Given the description of an element on the screen output the (x, y) to click on. 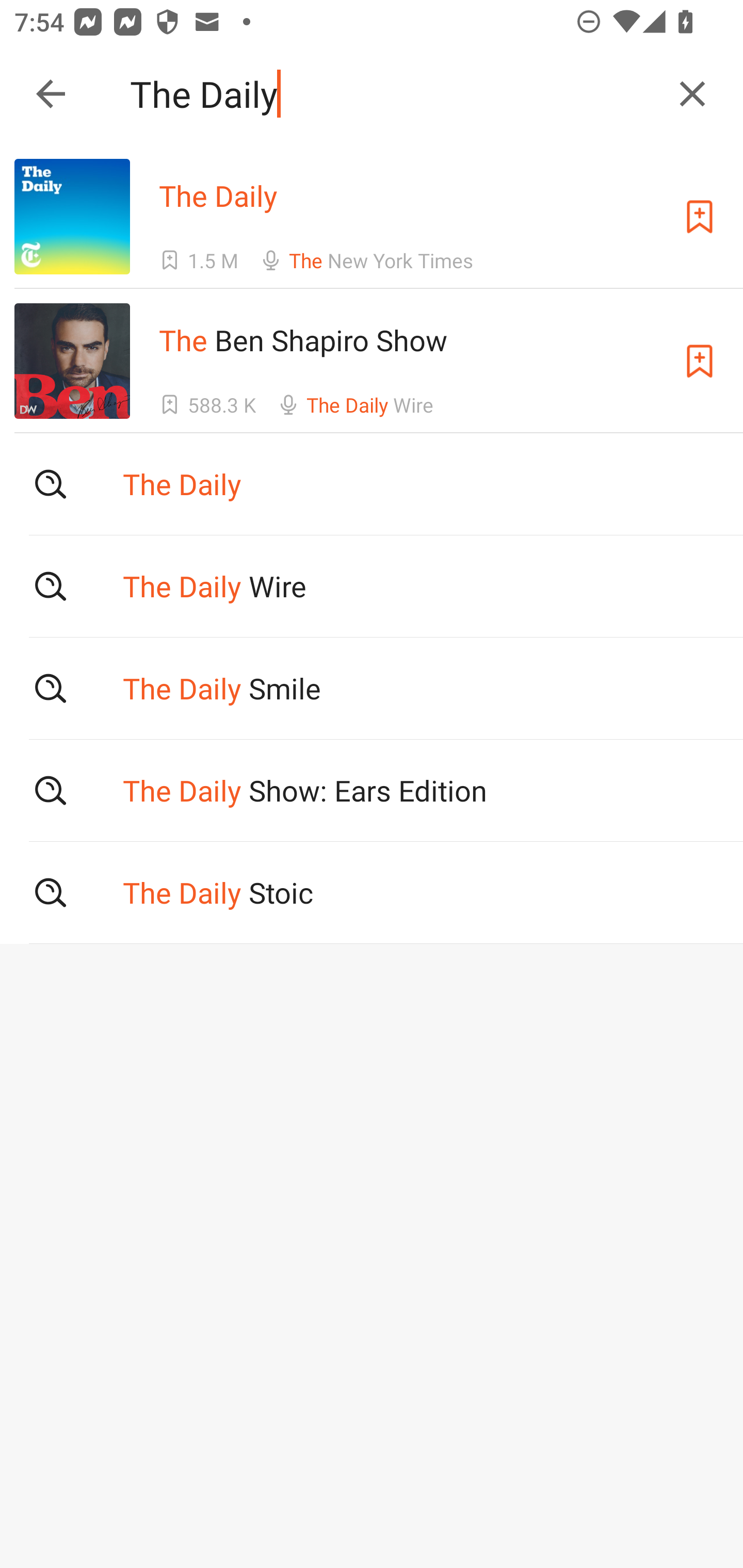
Collapse (50, 93)
Clear query (692, 93)
The Daily (393, 94)
Subscribe (699, 216)
Subscribe (699, 360)
 The Daily (371, 483)
 The Daily Wire (371, 585)
 The Daily Smile (371, 688)
 The Daily Show: Ears Edition (371, 791)
 The Daily Stoic (371, 892)
